Given the description of an element on the screen output the (x, y) to click on. 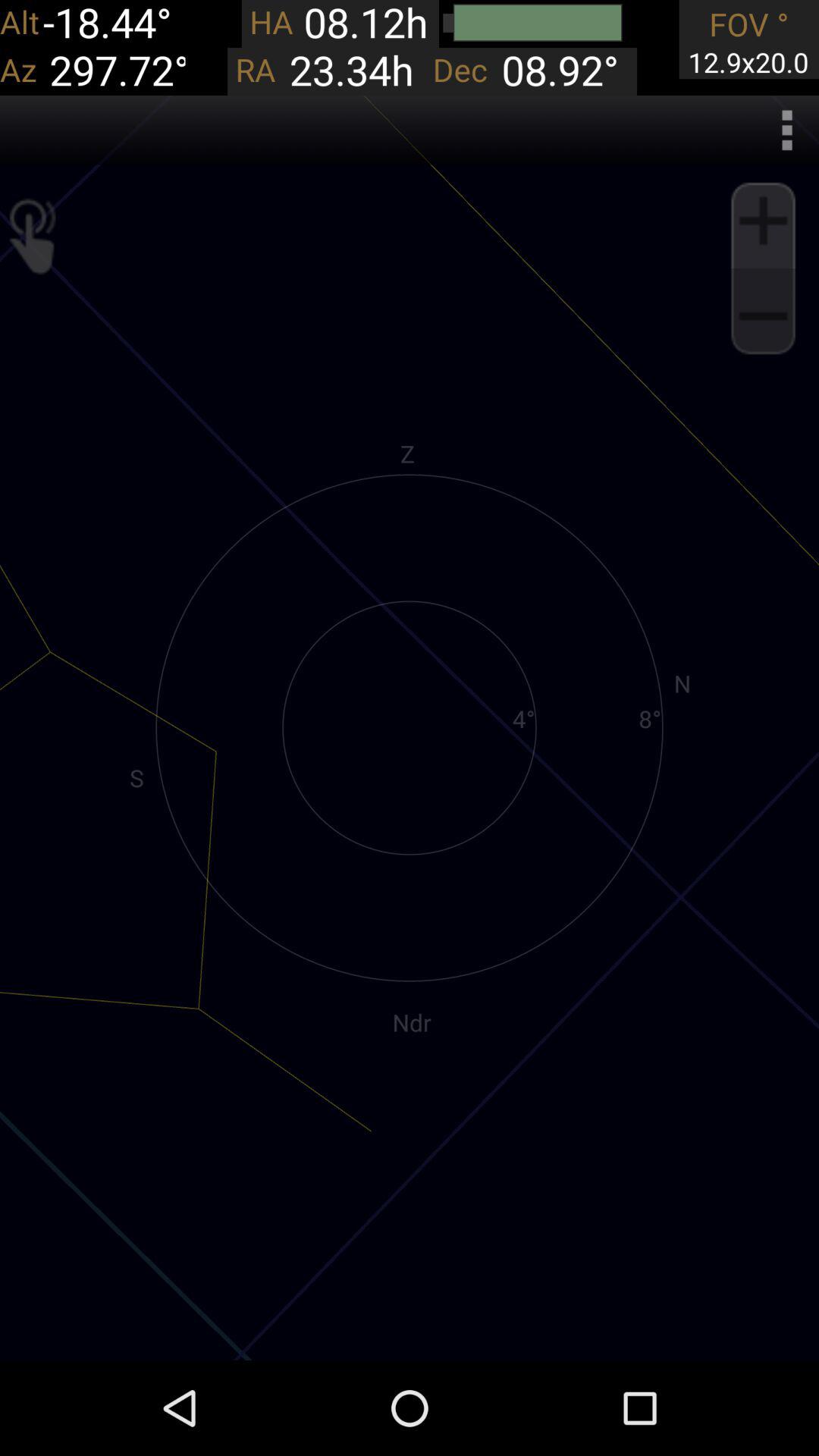
zoom in (763, 220)
